Given the description of an element on the screen output the (x, y) to click on. 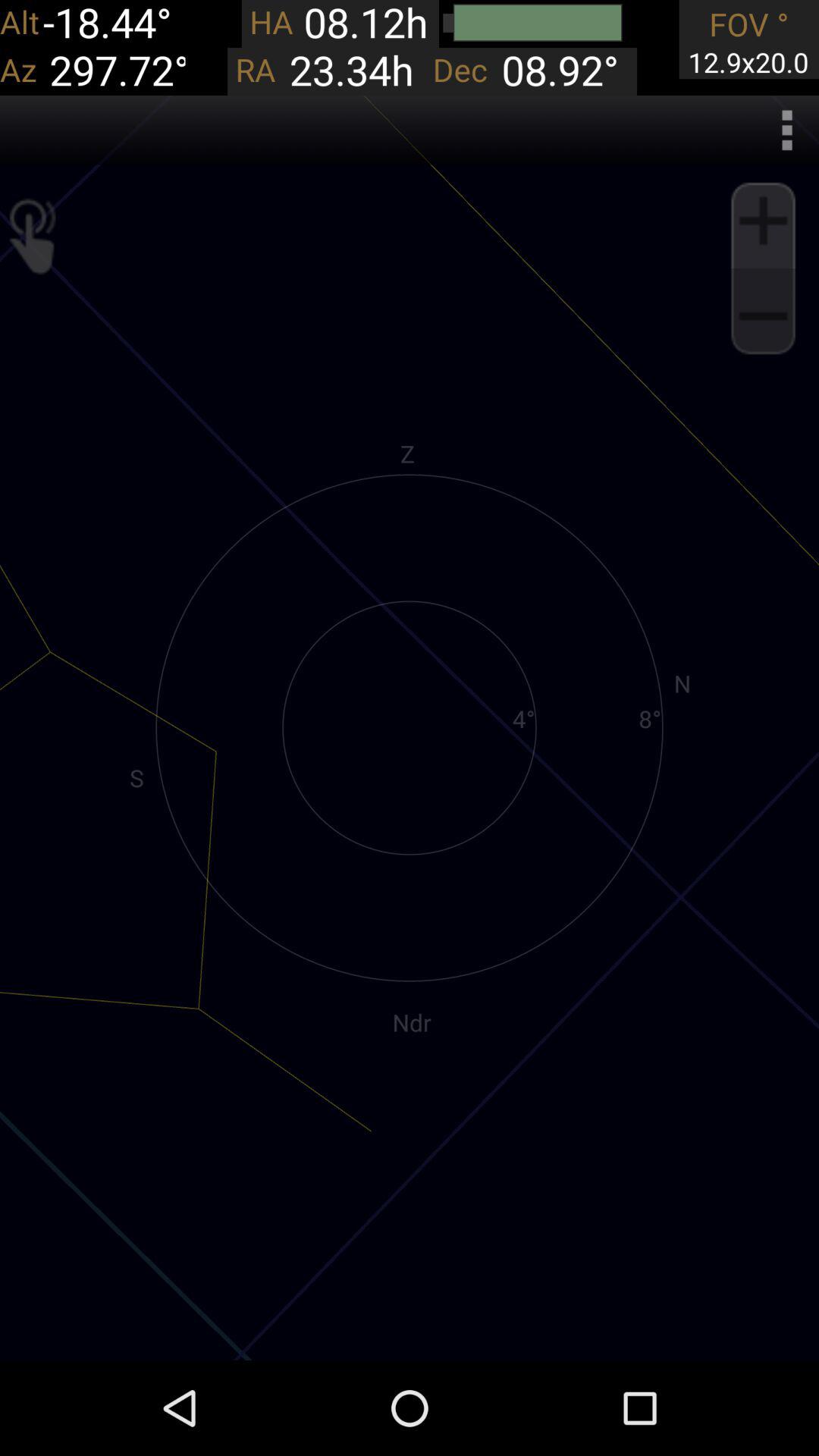
zoom in (763, 220)
